Given the description of an element on the screen output the (x, y) to click on. 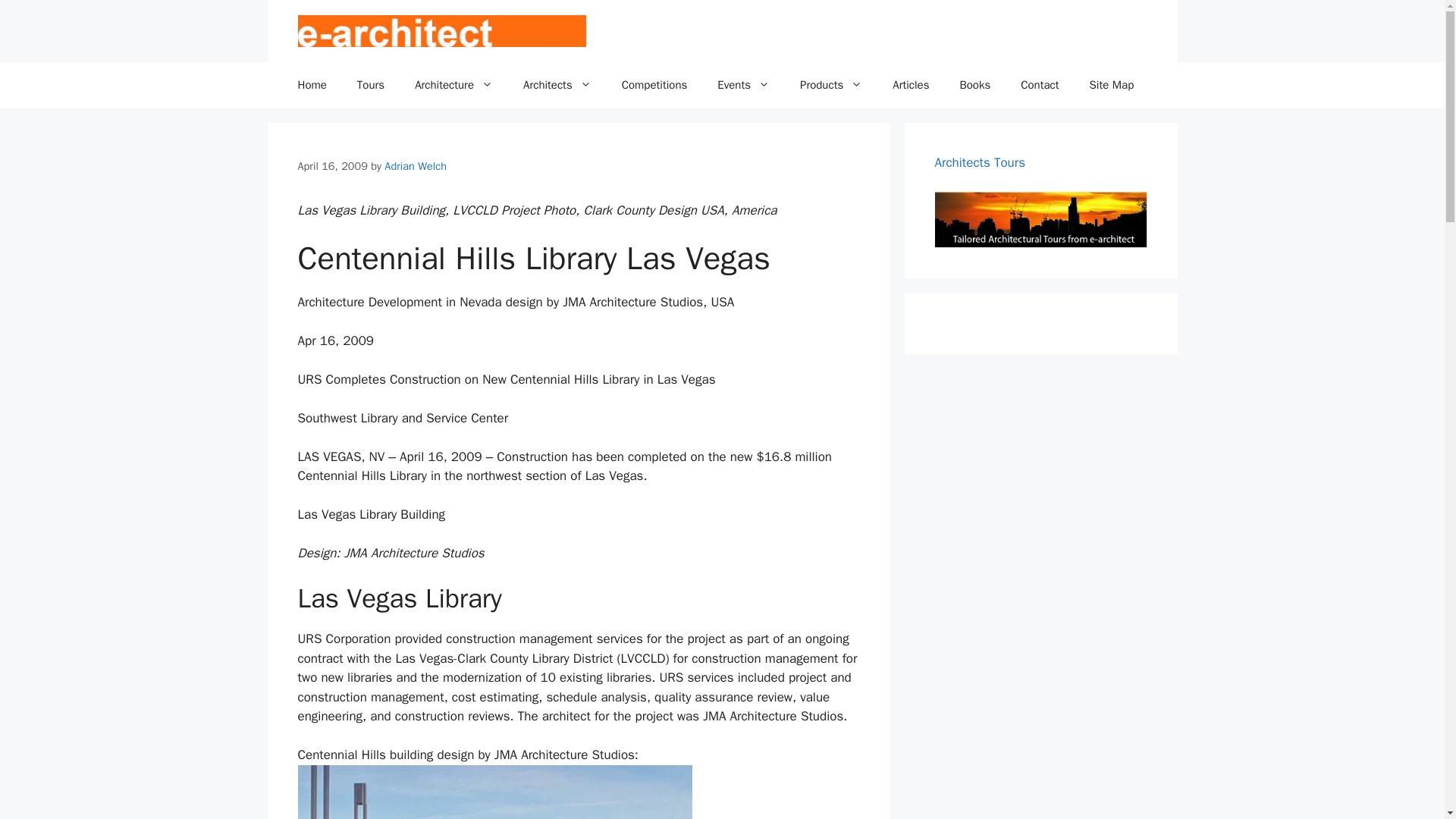
Architects (557, 84)
Products (830, 84)
View all posts by Adrian Welch (415, 165)
Contact (1040, 84)
Competitions (655, 84)
Home (311, 84)
Tours (370, 84)
Architecture (453, 84)
Events (742, 84)
Home (311, 84)
Books (974, 84)
Adrian Welch (415, 165)
Site Map (1112, 84)
Articles (910, 84)
